Given the description of an element on the screen output the (x, y) to click on. 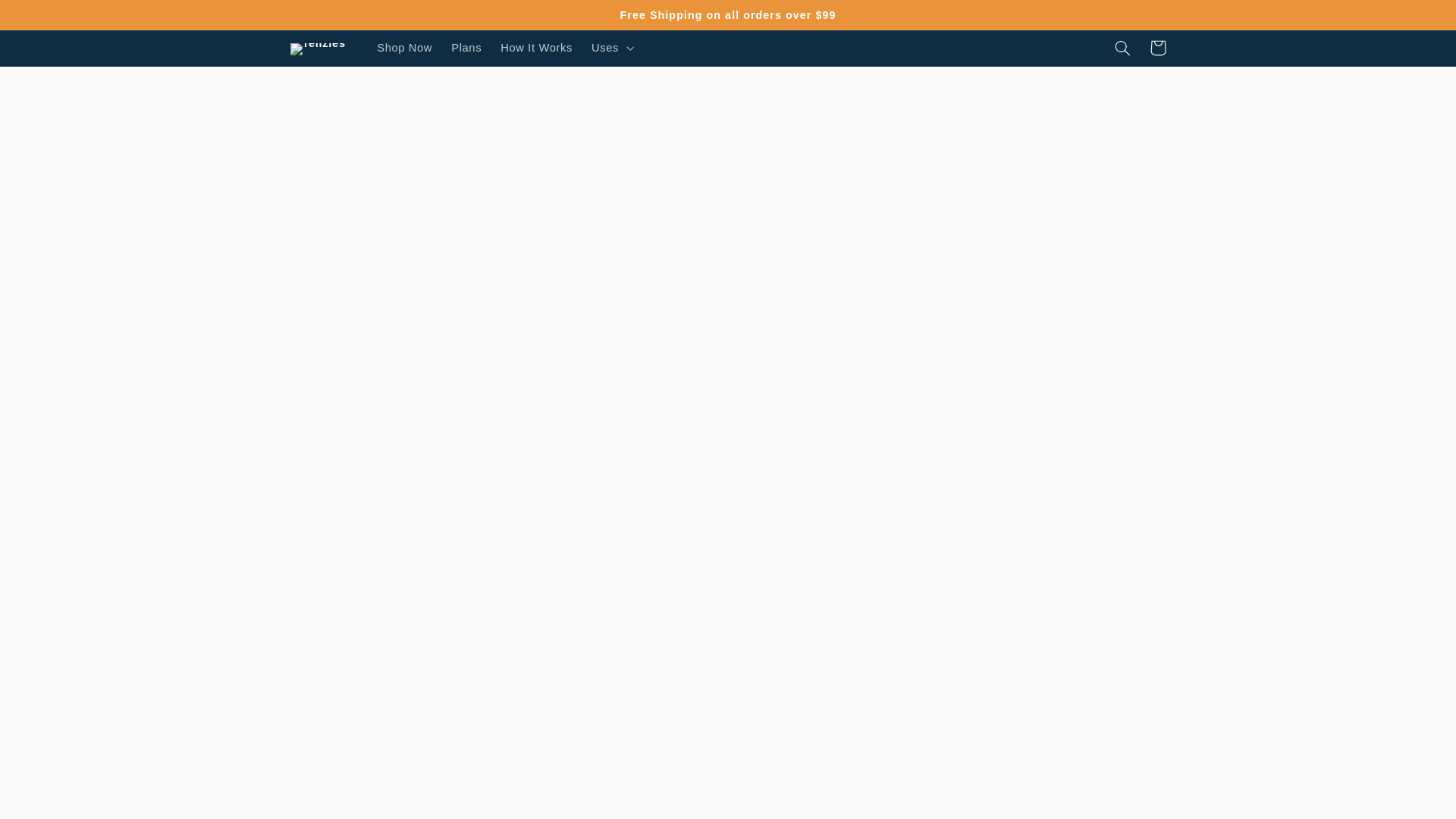
Plans (467, 47)
How It Works (537, 47)
Skip to content (50, 20)
Cart (1157, 47)
Shop Now (405, 47)
